Given the description of an element on the screen output the (x, y) to click on. 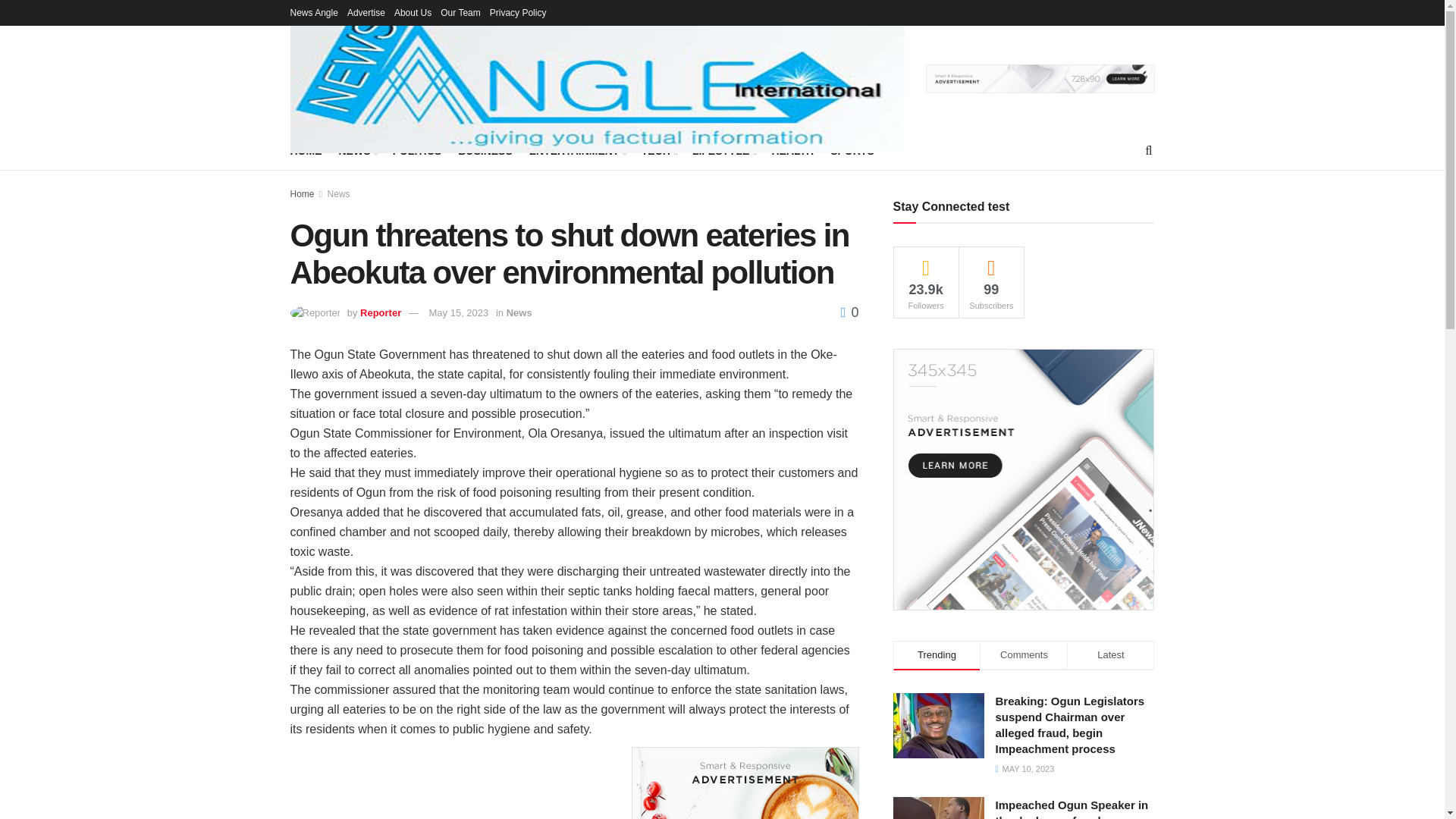
ENTERTAINMENT (576, 150)
Privacy Policy (518, 12)
BUSINESS (485, 150)
Our Team (460, 12)
NEWS (356, 150)
HOME (305, 150)
News Angle (313, 12)
About Us (412, 12)
Advertise (366, 12)
POLITICS (417, 150)
